Given the description of an element on the screen output the (x, y) to click on. 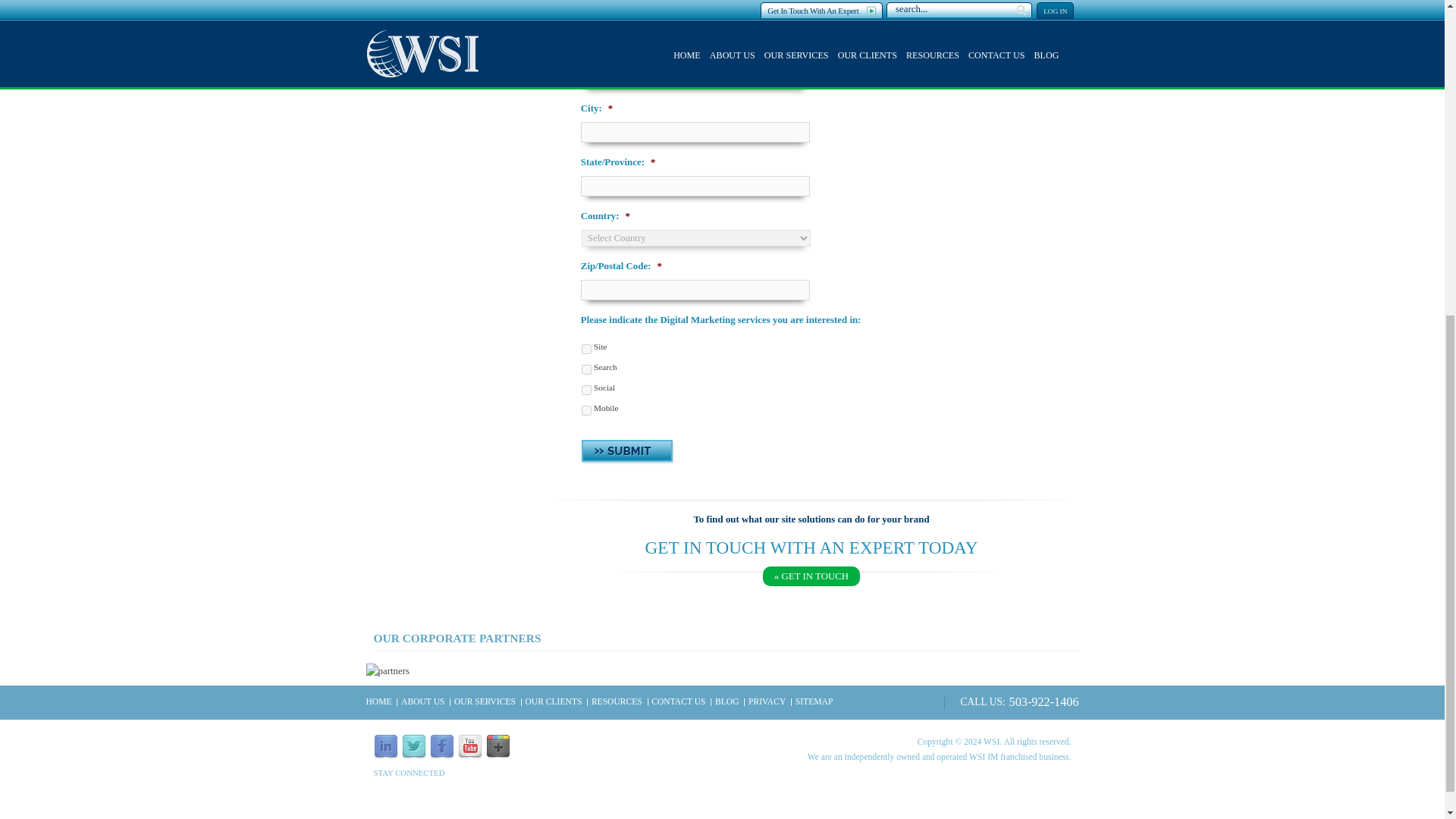
SITEMAP (813, 702)
BLOG (726, 702)
ABOUT US (422, 702)
HOME (378, 702)
RESOURCES (616, 702)
Social (585, 389)
Search (585, 369)
Mobile (585, 410)
Site (585, 348)
OUR SERVICES (484, 702)
